Given the description of an element on the screen output the (x, y) to click on. 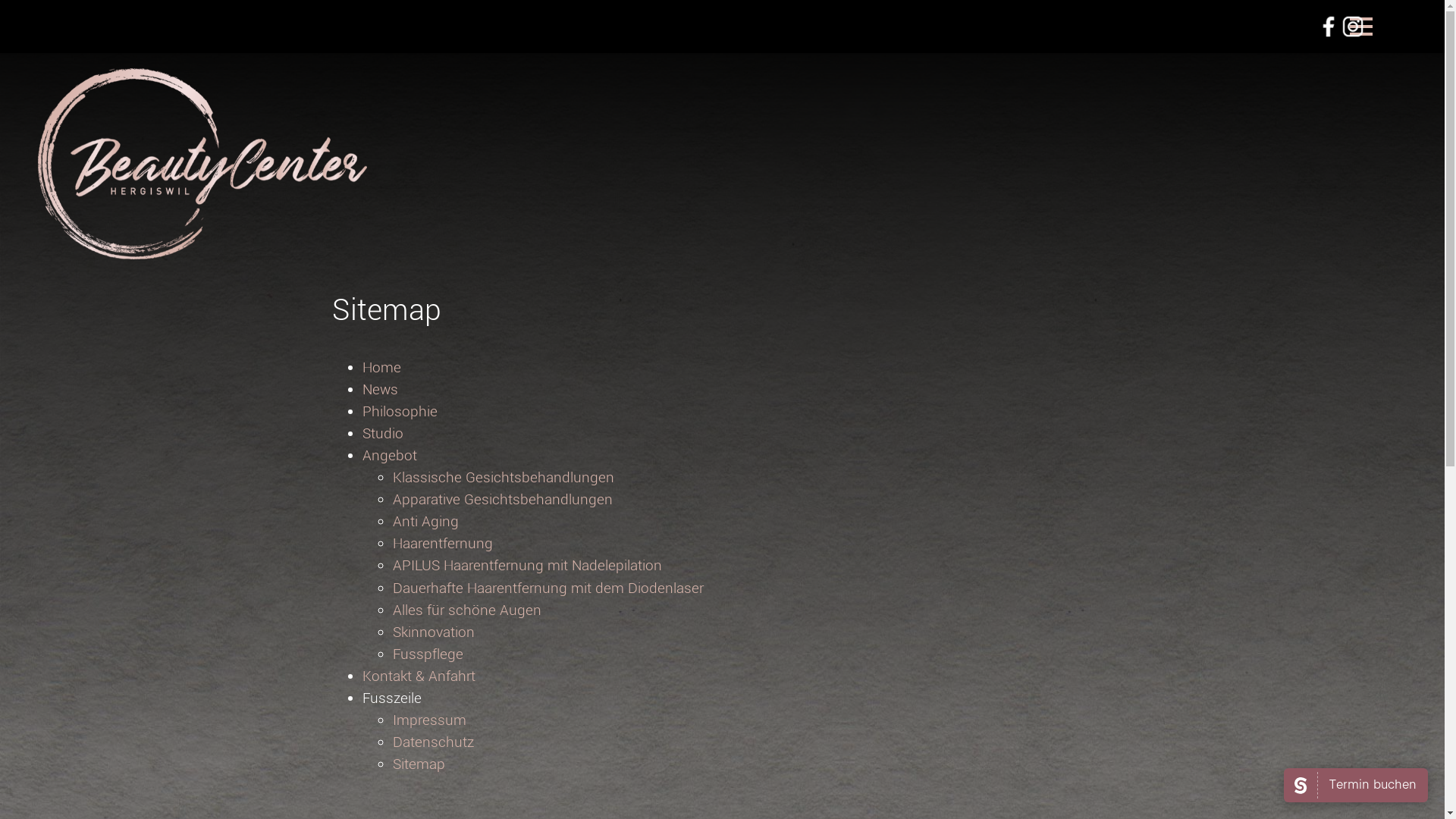
Beautycenter Hergiswil - Kosmetik - Jenny Peters Element type: hover (202, 248)
Studio Element type: text (382, 433)
Fusspflege Element type: text (427, 653)
APILUS Haarentfernung mit Nadelepilation Element type: text (527, 565)
Impressum Element type: text (429, 719)
Philosophie Element type: text (399, 411)
Dauerhafte Haarentfernung mit dem Diodenlaser Element type: text (547, 587)
Besuche uns auf facebook Element type: hover (1328, 26)
Skinnovation Element type: text (433, 631)
Datenschutz Element type: text (432, 741)
News Element type: text (380, 389)
Home Element type: text (381, 367)
Anti Aging Element type: text (425, 521)
Kontakt & Anfahrt Element type: text (418, 675)
Apparative Gesichtsbehandlungen Element type: text (502, 499)
Sitemap Element type: text (418, 763)
Angebot Element type: text (389, 455)
Besuche uns auf Instagram Element type: hover (1352, 26)
Klassische Gesichtsbehandlungen Element type: text (503, 477)
Haarentfernung Element type: text (442, 543)
